Given the description of an element on the screen output the (x, y) to click on. 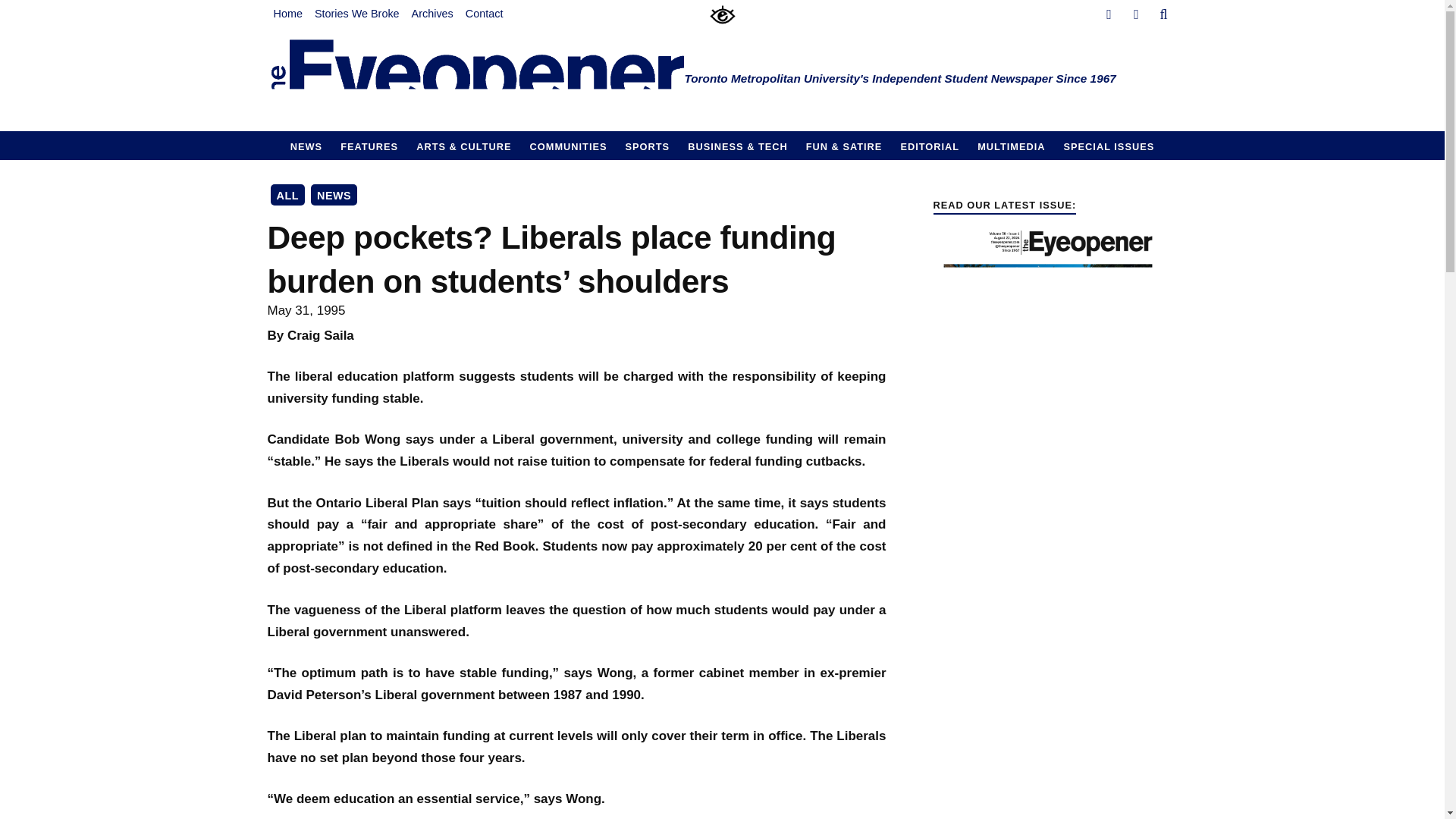
Archives (433, 13)
SPORTS (647, 145)
MULTIMEDIA (1011, 145)
EDITORIAL (929, 145)
NEWS (306, 145)
Home (286, 13)
Stories We Broke (357, 13)
SPECIAL ISSUES (1108, 145)
FEATURES (369, 145)
COMMUNITIES (568, 145)
